Given the description of an element on the screen output the (x, y) to click on. 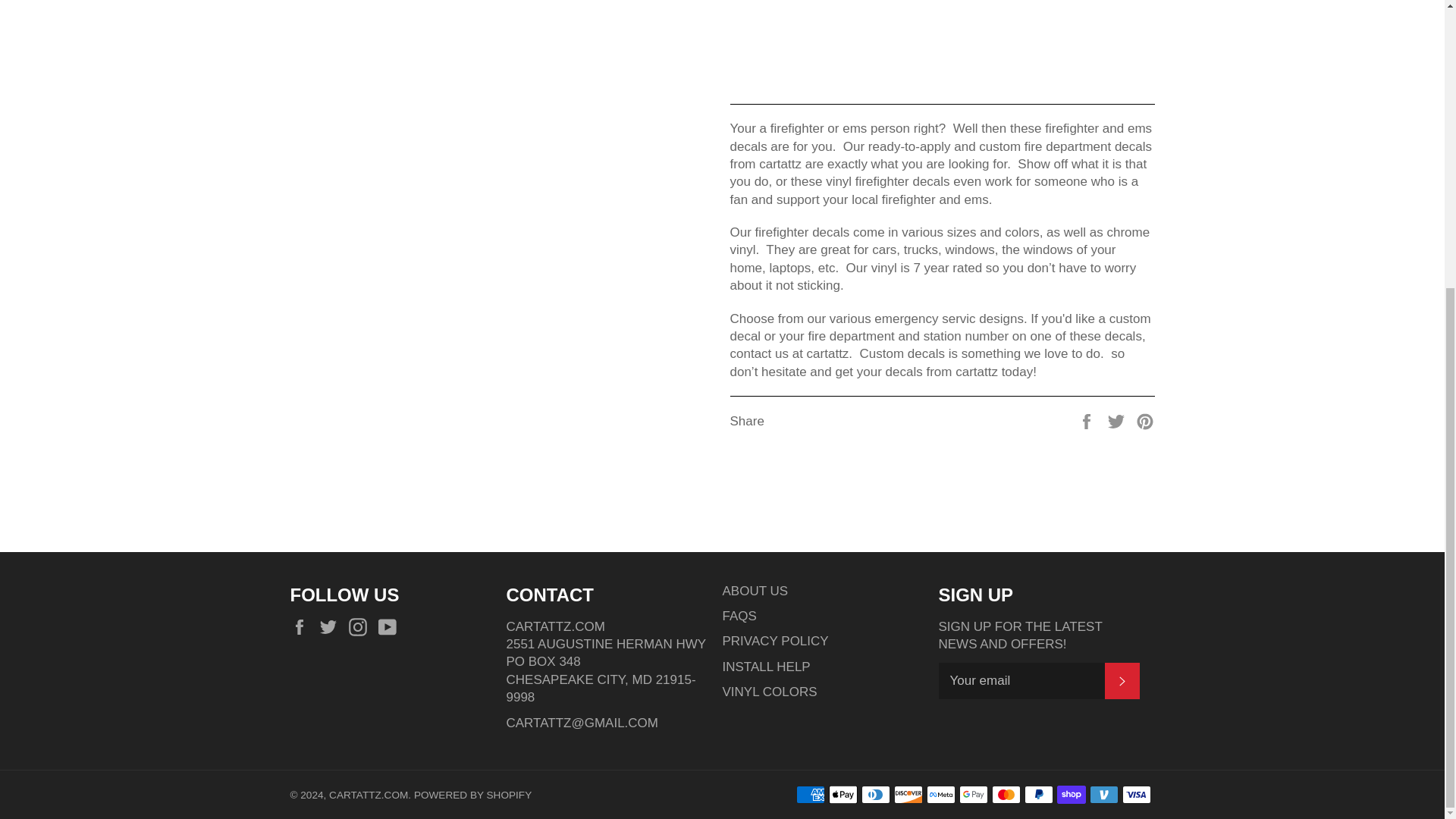
ABOUT US (754, 590)
cartattz.com on Instagram (361, 627)
INSTAGRAM (361, 627)
Share on Facebook (1088, 420)
cartattz.com on Twitter (331, 627)
TWITTER (331, 627)
Pin on Pinterest (1144, 420)
YOUTUBE (391, 627)
Pin on Pinterest (1144, 420)
cartattz.com on YouTube (391, 627)
Tweet on Twitter (1117, 420)
FAQS (738, 616)
Tweet on Twitter (1117, 420)
Share on Facebook (1088, 420)
cartattz.com on Facebook (302, 627)
